Given the description of an element on the screen output the (x, y) to click on. 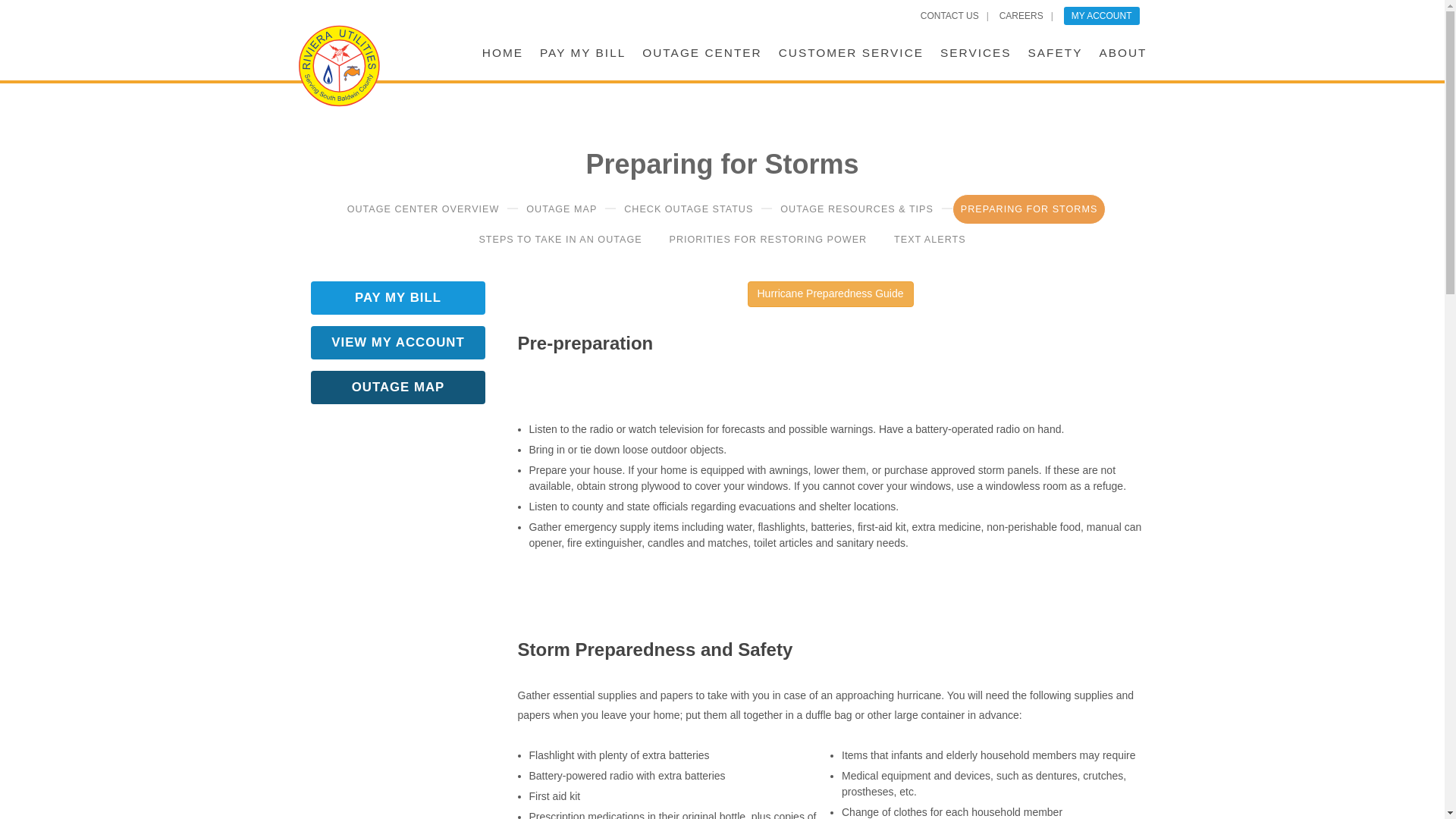
SERVICES (976, 42)
PAY MY BILL (582, 42)
CONTACT US (949, 15)
MY ACCOUNT (1102, 15)
CAREERS (1020, 15)
OUTAGE CENTER (701, 42)
CUSTOMER SERVICE (851, 42)
